Given the description of an element on the screen output the (x, y) to click on. 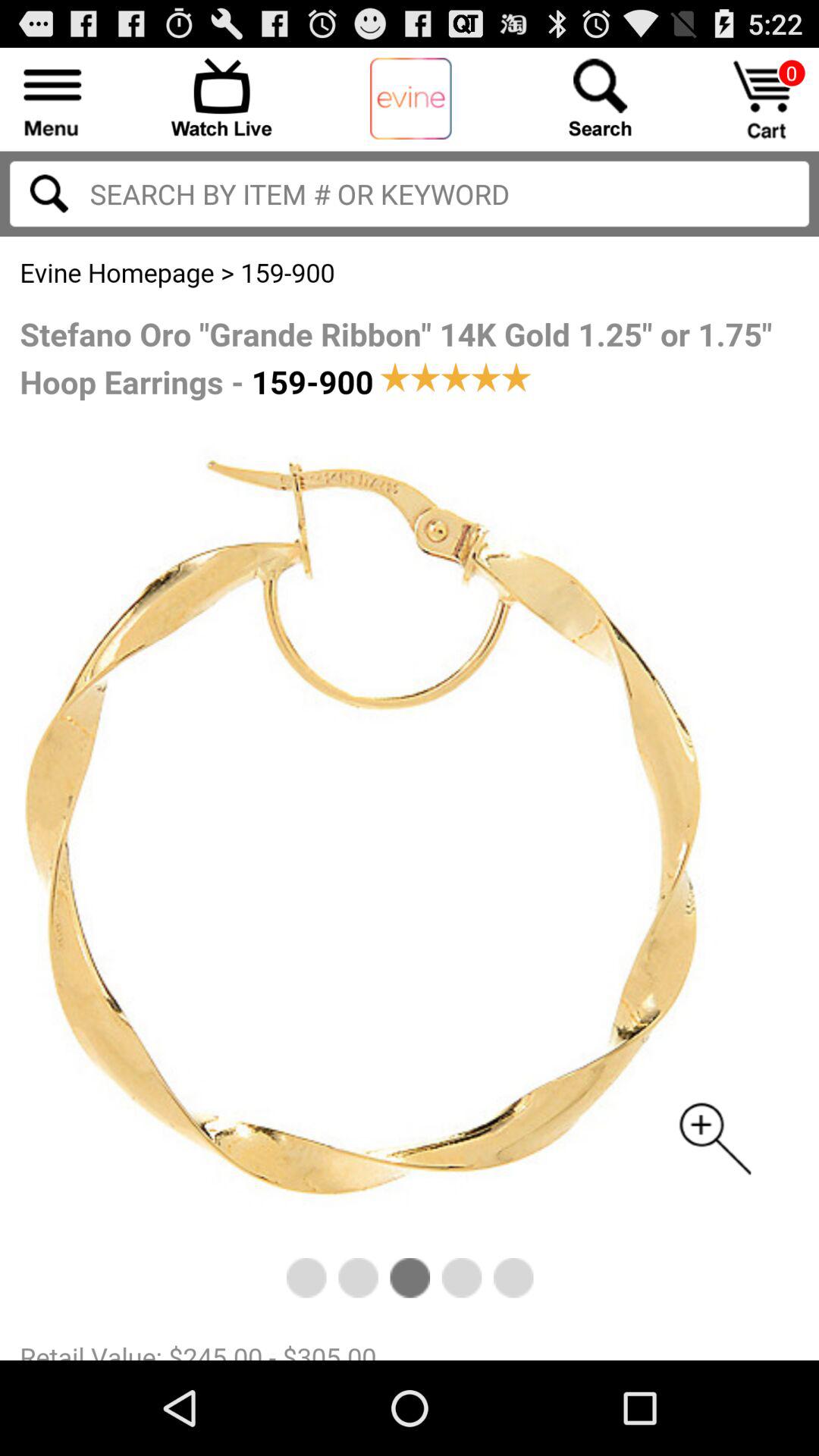
click full image (409, 798)
